Given the description of an element on the screen output the (x, y) to click on. 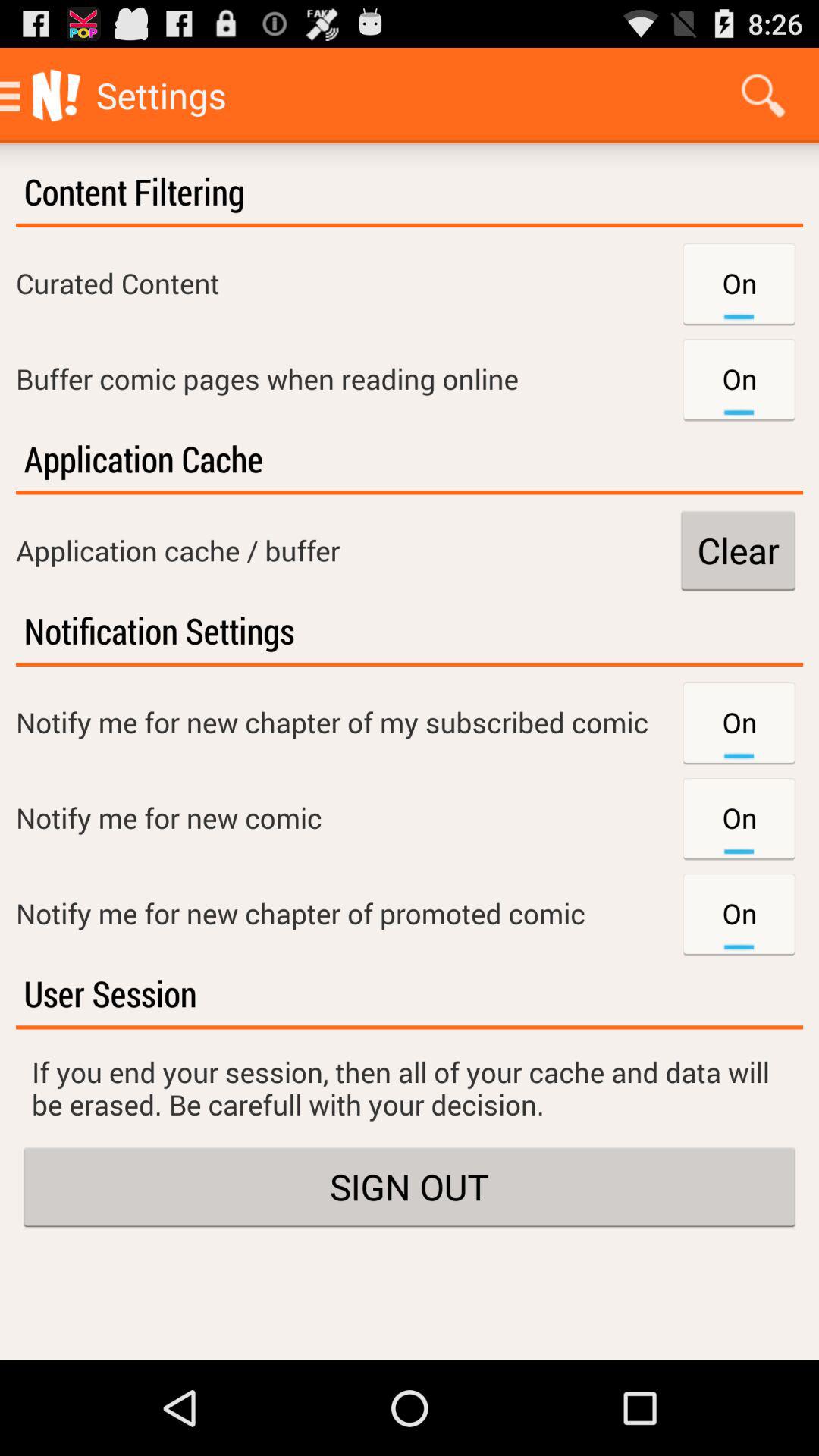
select item next to the settings icon (763, 95)
